Given the description of an element on the screen output the (x, y) to click on. 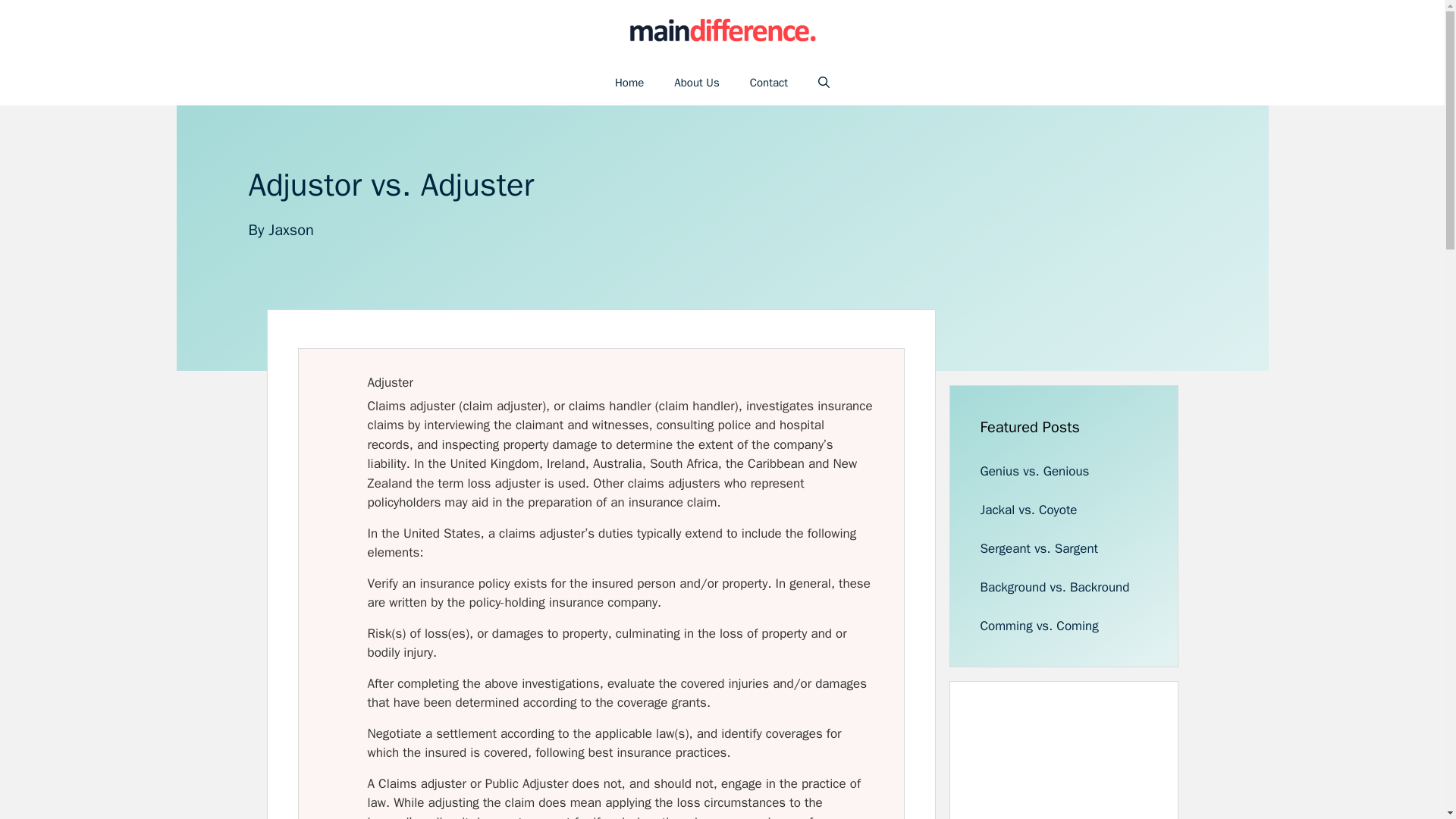
Comming vs. Coming (1038, 625)
Home (629, 82)
About Us (696, 82)
Advertisement (1093, 765)
Genius vs. Genious (1034, 471)
Sergeant vs. Sargent (1038, 548)
Background vs. Backround (1054, 587)
Contact (769, 82)
Jaxson (290, 229)
Jackal vs. Coyote (1028, 509)
